Given the description of an element on the screen output the (x, y) to click on. 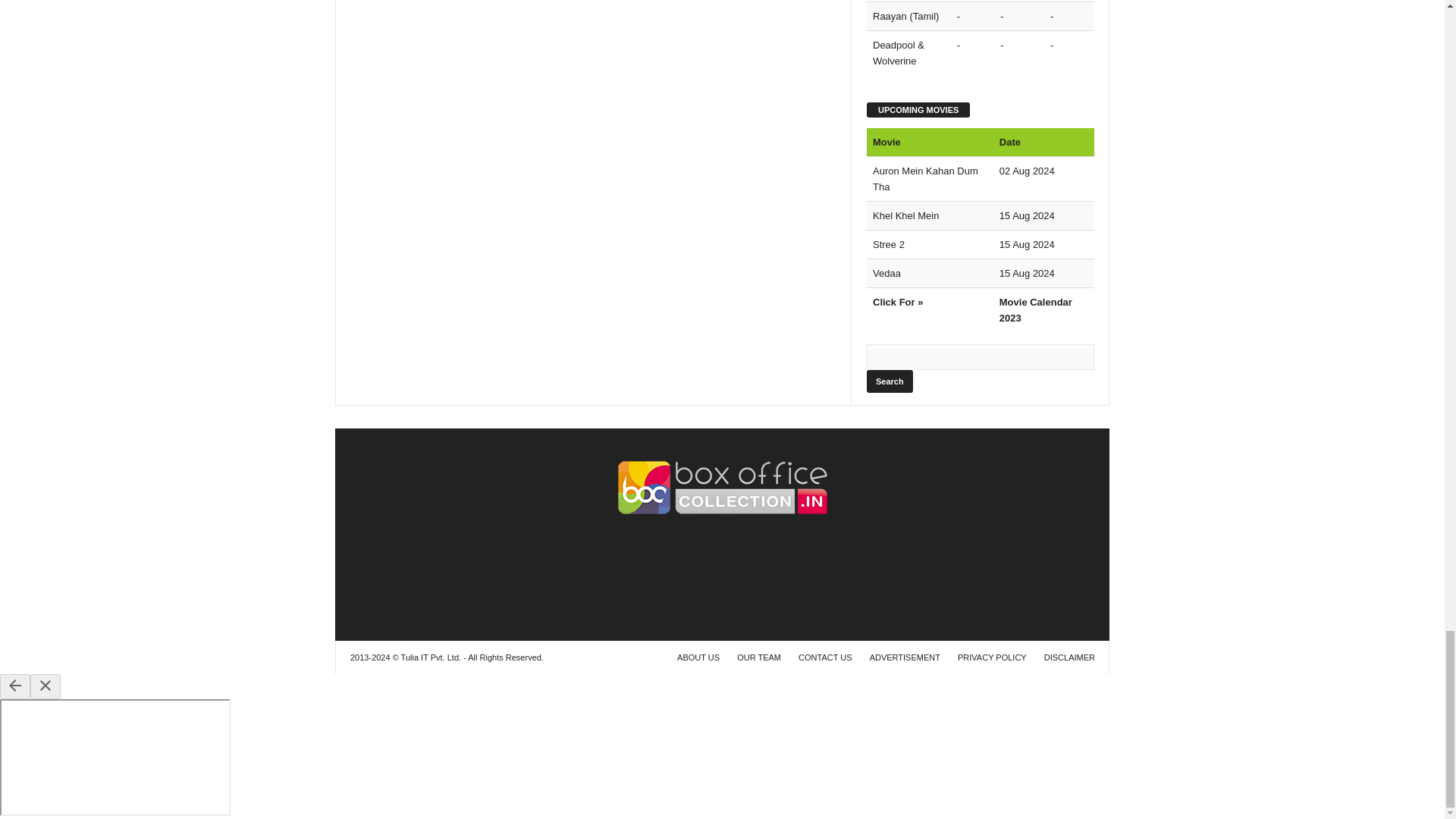
Search (889, 381)
